Given the description of an element on the screen output the (x, y) to click on. 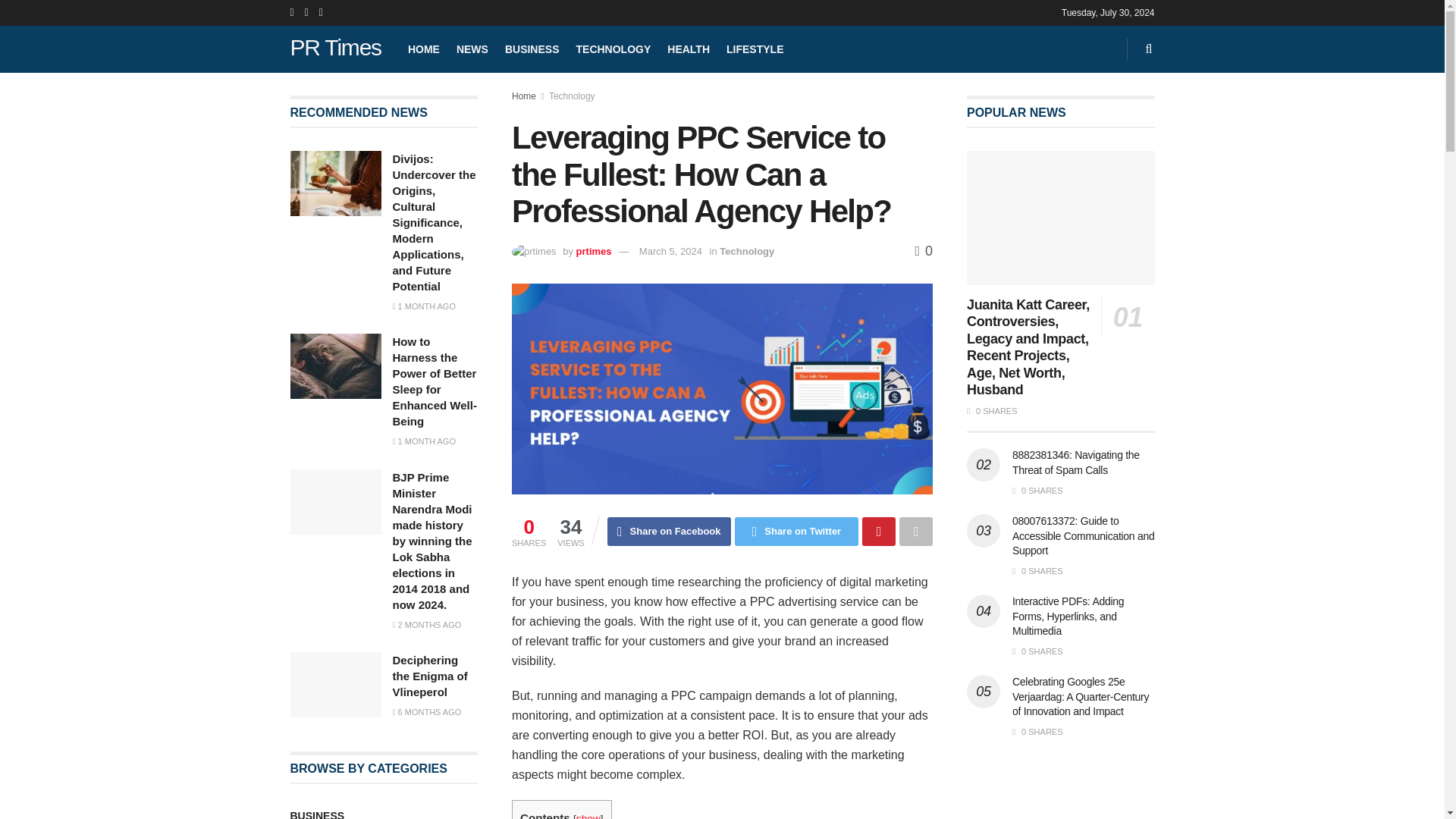
Home (523, 95)
TECHNOLOGY (613, 48)
PR Times (334, 49)
BUSINESS (532, 48)
Share on Facebook (668, 531)
Share on Twitter (797, 531)
LIFESTYLE (754, 48)
prtimes (593, 251)
HEALTH (688, 48)
Technology (746, 251)
0 (923, 250)
Technology (571, 95)
show (587, 816)
March 5, 2024 (670, 251)
